Given the description of an element on the screen output the (x, y) to click on. 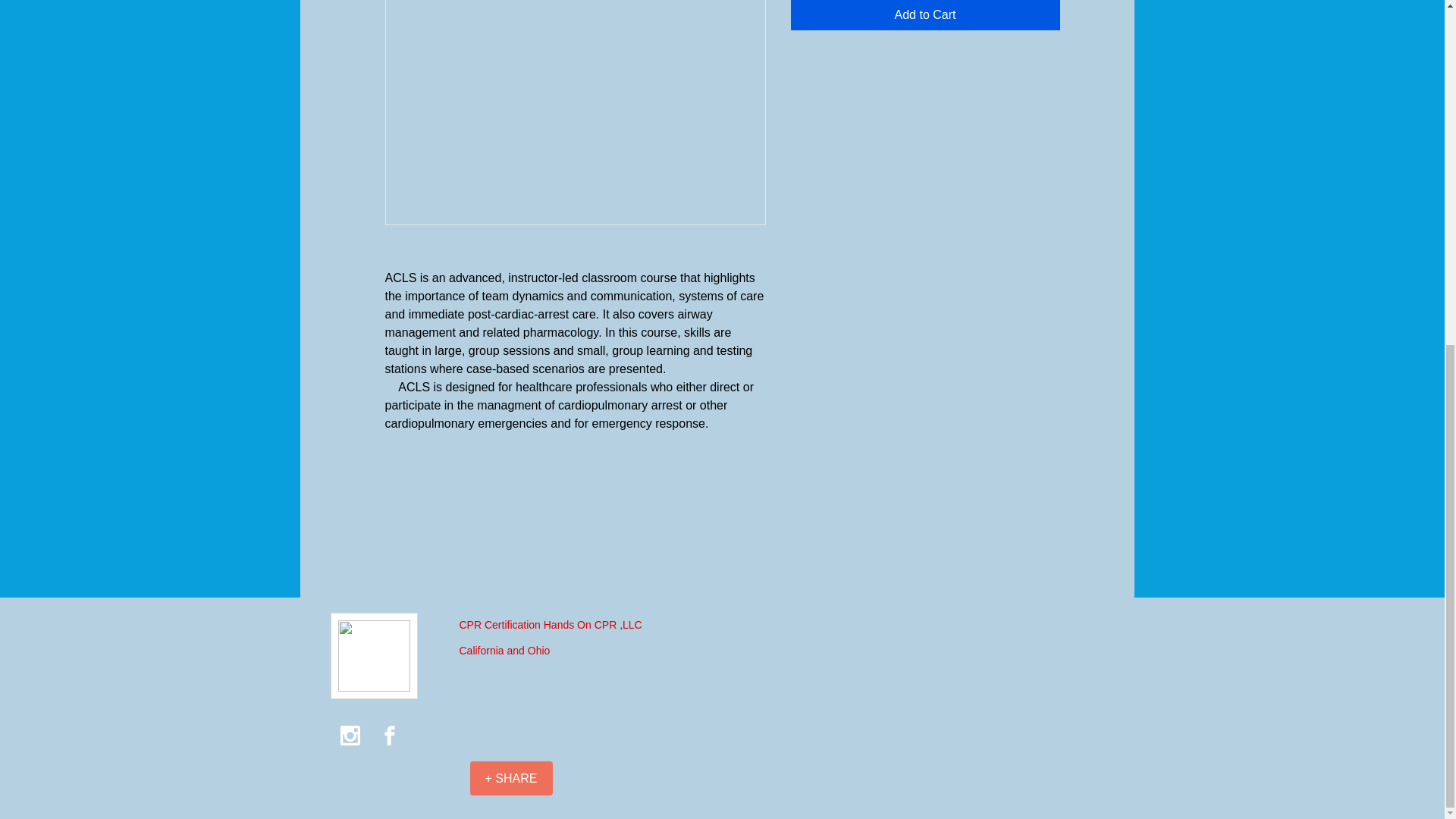
Add to Cart (924, 15)
